Given the description of an element on the screen output the (x, y) to click on. 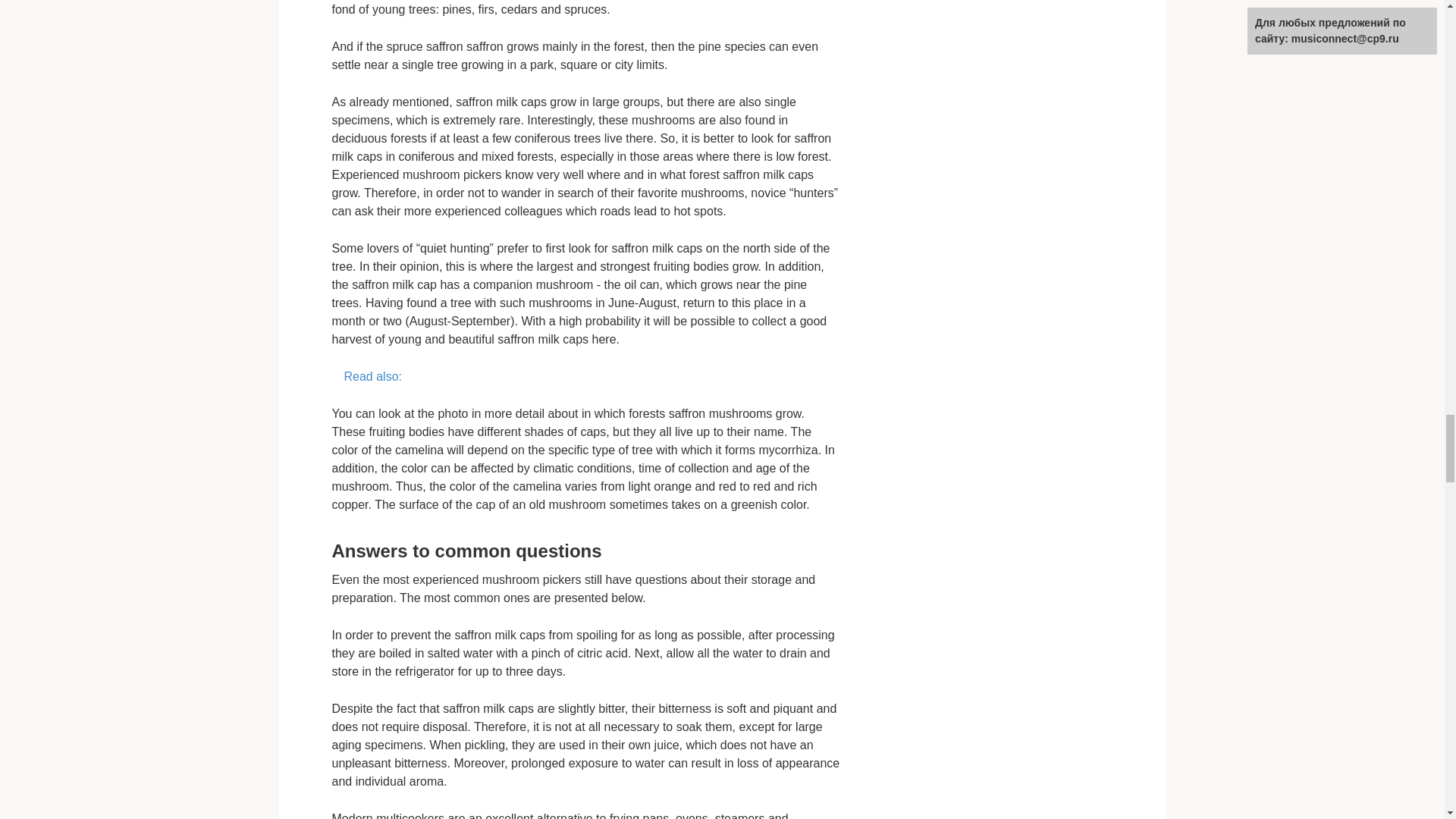
Read also:  (585, 376)
